Given the description of an element on the screen output the (x, y) to click on. 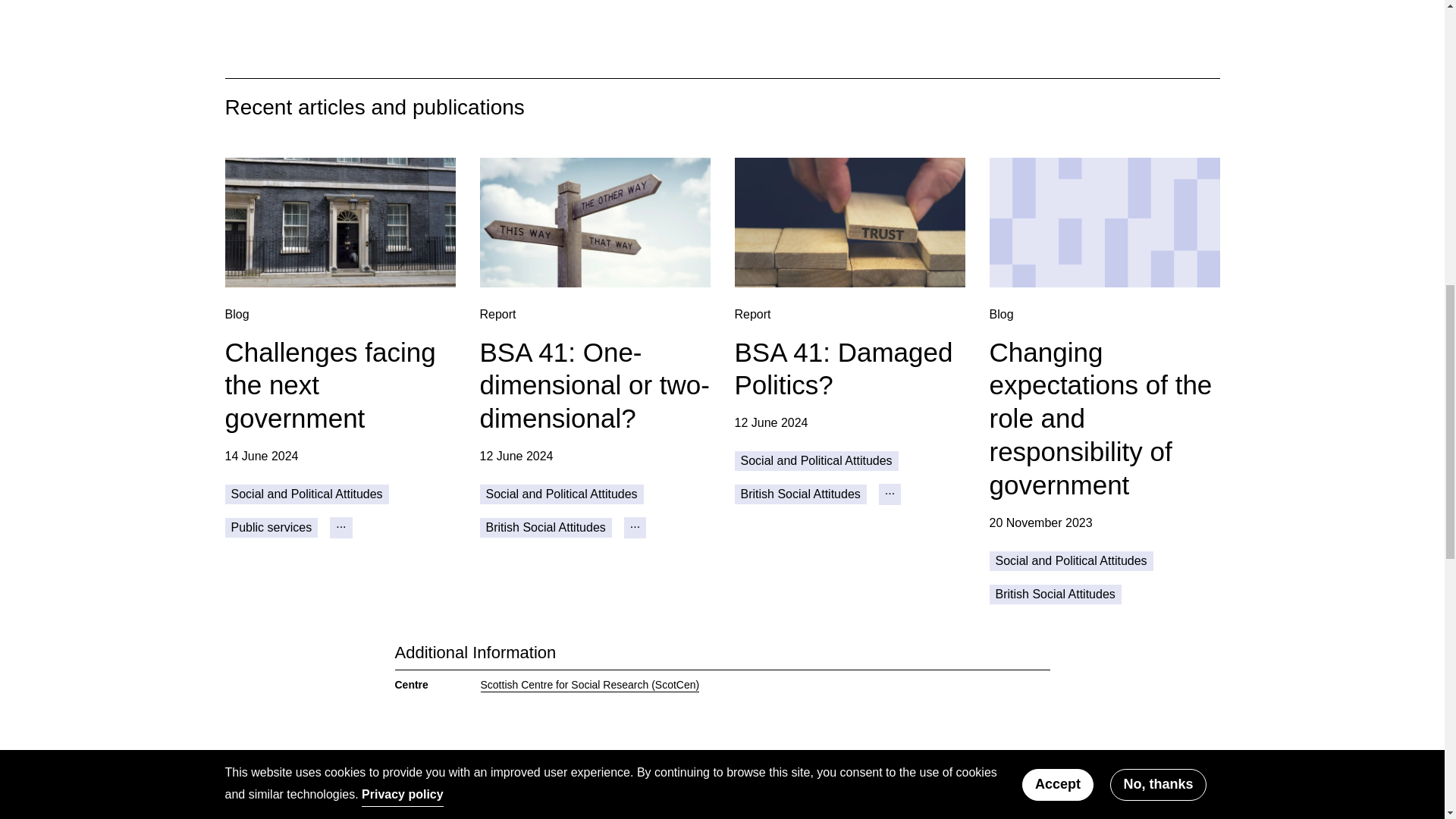
Challenges facing the next government (329, 386)
BSA 41: Damaged Politics? (848, 222)
Challenges facing the next government (339, 222)
BSA 41: One-dimensional or two-dimensional? (594, 222)
